Given the description of an element on the screen output the (x, y) to click on. 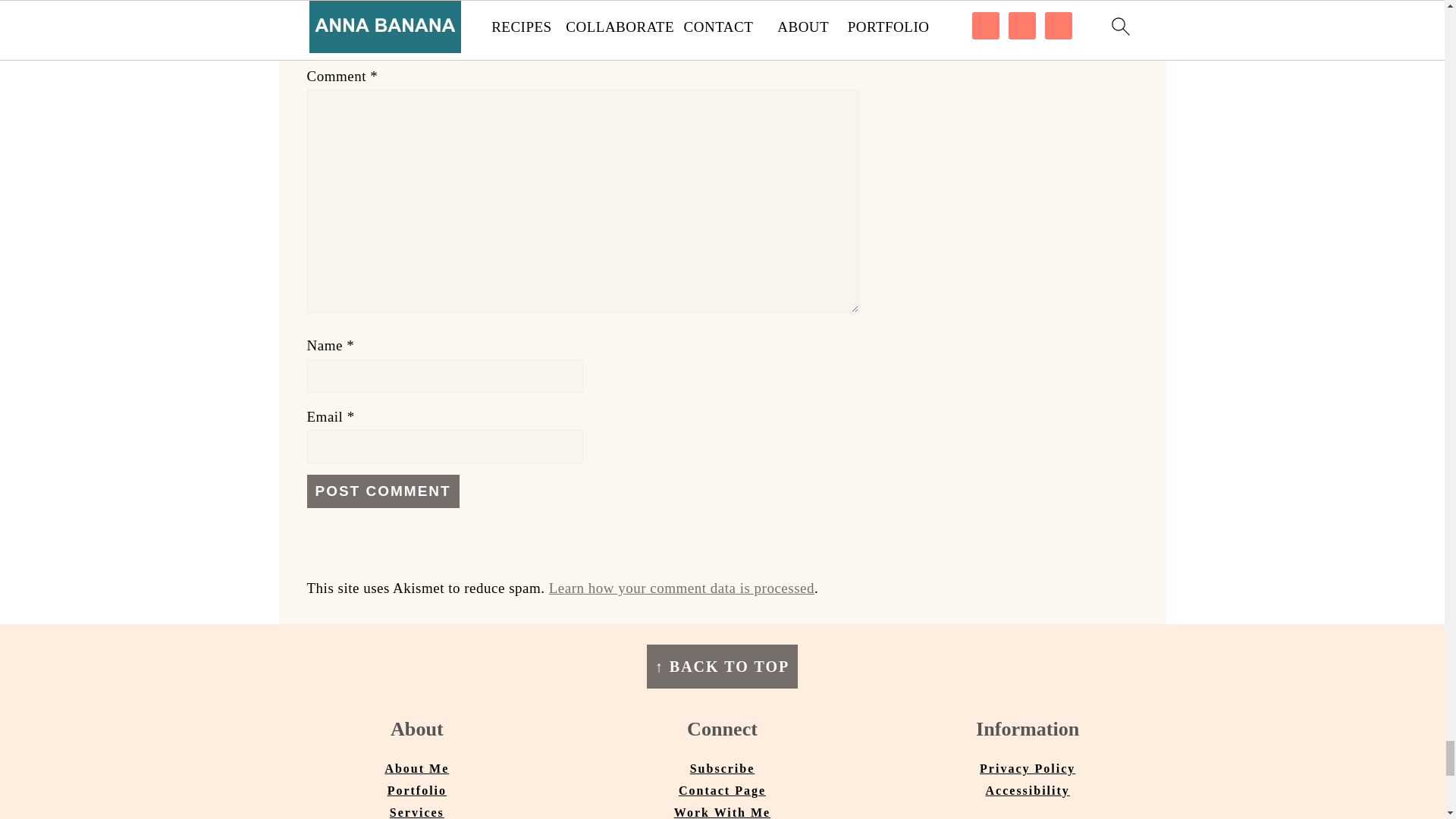
Post Comment (381, 491)
